Given the description of an element on the screen output the (x, y) to click on. 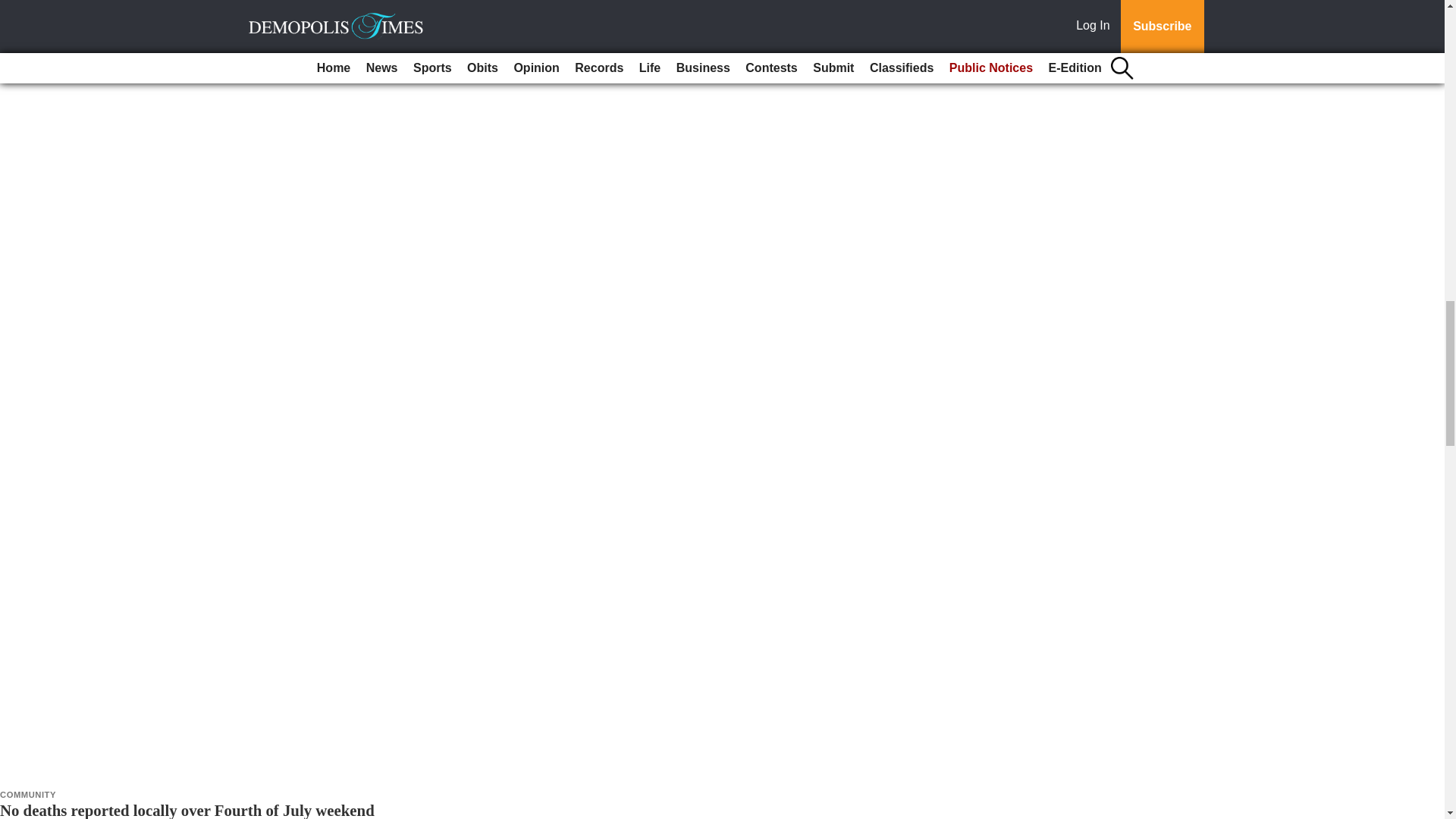
No deaths reported locally over Fourth of July weekend (187, 810)
No deaths reported locally over Fourth of July weekend (187, 810)
